Given the description of an element on the screen output the (x, y) to click on. 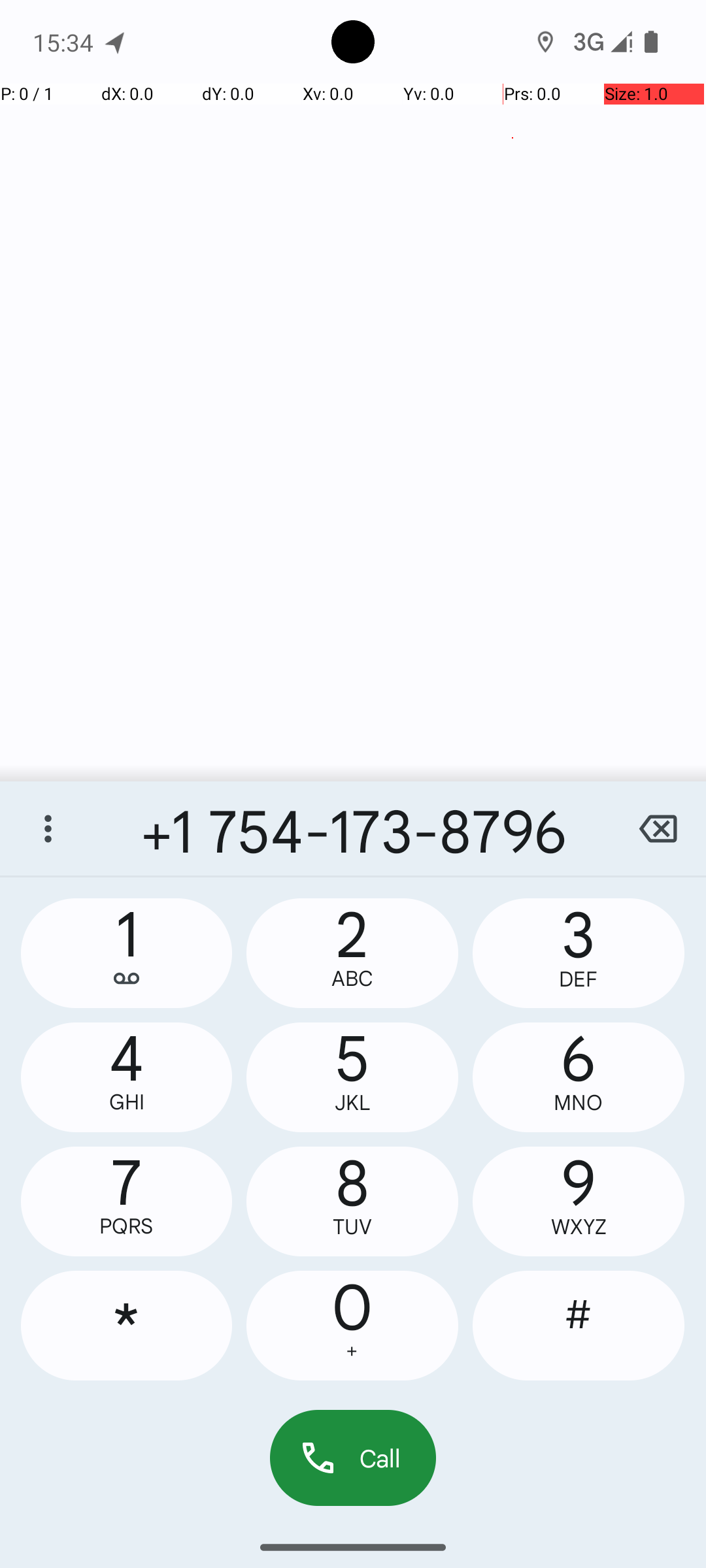
Call Element type: android.widget.Button (352, 1457)
+1 754-173-8796 Element type: android.widget.EditText (352, 828)
backspace Element type: android.widget.ImageButton (657, 828)
1, Element type: android.widget.FrameLayout (126, 953)
2,ABC Element type: android.widget.FrameLayout (352, 953)
3,DEF Element type: android.widget.FrameLayout (578, 953)
4,GHI Element type: android.widget.FrameLayout (126, 1077)
5,JKL Element type: android.widget.FrameLayout (352, 1077)
6,MNO Element type: android.widget.FrameLayout (578, 1077)
7,PQRS Element type: android.widget.FrameLayout (126, 1201)
8,TUV Element type: android.widget.FrameLayout (352, 1201)
9,WXYZ Element type: android.widget.FrameLayout (578, 1201)
* Element type: android.widget.FrameLayout (126, 1325)
ABC Element type: android.widget.TextView (351, 978)
DEF Element type: android.widget.TextView (578, 978)
GHI Element type: android.widget.TextView (126, 1101)
JKL Element type: android.widget.TextView (351, 1102)
MNO Element type: android.widget.TextView (578, 1102)
PQRS Element type: android.widget.TextView (126, 1225)
TUV Element type: android.widget.TextView (351, 1226)
WXYZ Element type: android.widget.TextView (578, 1226)
+ Element type: android.widget.TextView (351, 1351)
